Given the description of an element on the screen output the (x, y) to click on. 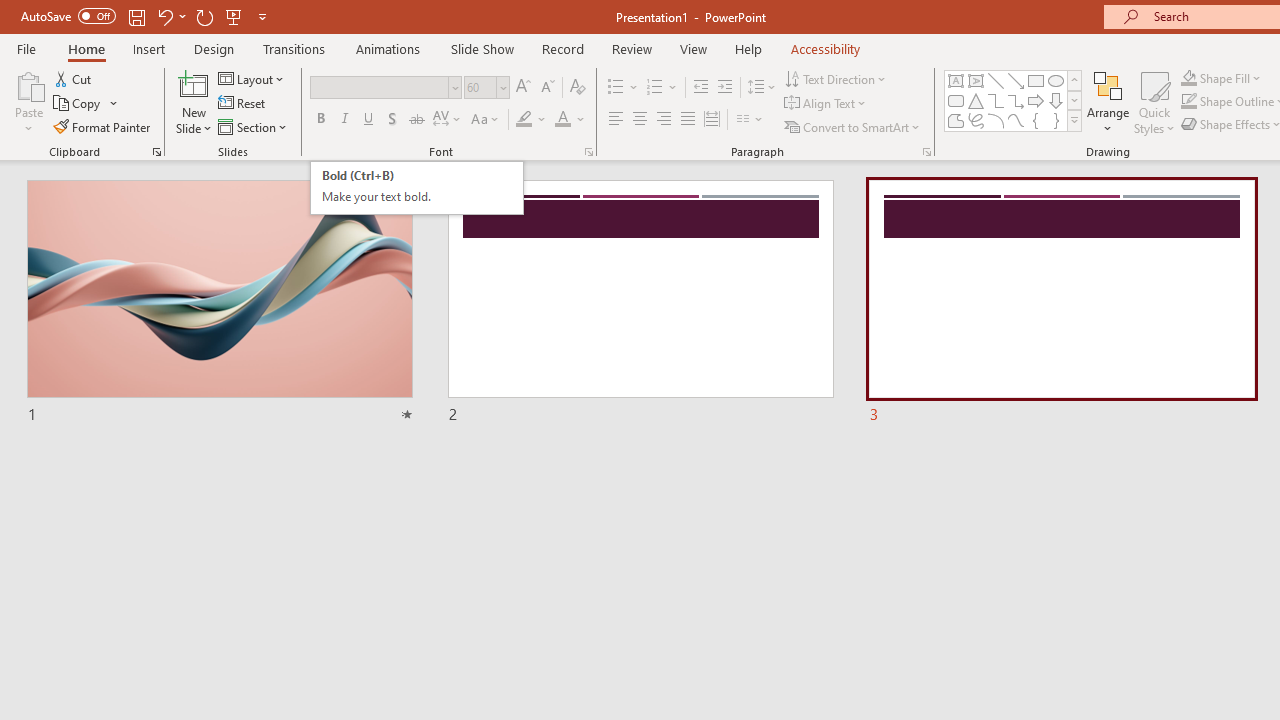
Curve (1016, 120)
Strikethrough (416, 119)
AutoSave (68, 16)
Insert (149, 48)
Undo (416, 188)
Font Color Red (170, 15)
Text Direction (562, 119)
Decrease Font Size (836, 78)
Line (547, 87)
Font Size (995, 80)
Record (486, 87)
Font... (562, 48)
